Given the description of an element on the screen output the (x, y) to click on. 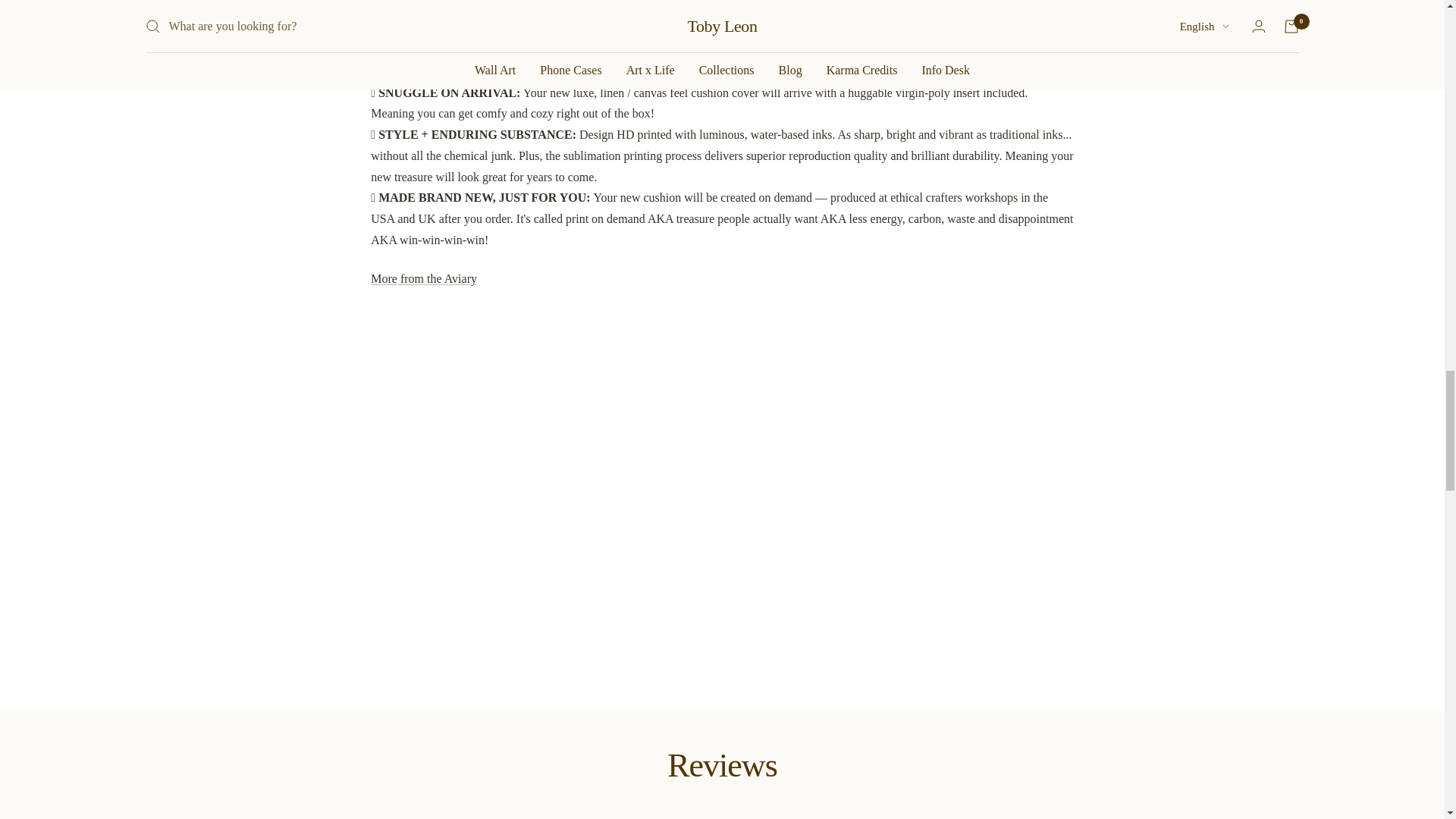
Aviary - royal thai aesthetic pattern (424, 278)
